Given the description of an element on the screen output the (x, y) to click on. 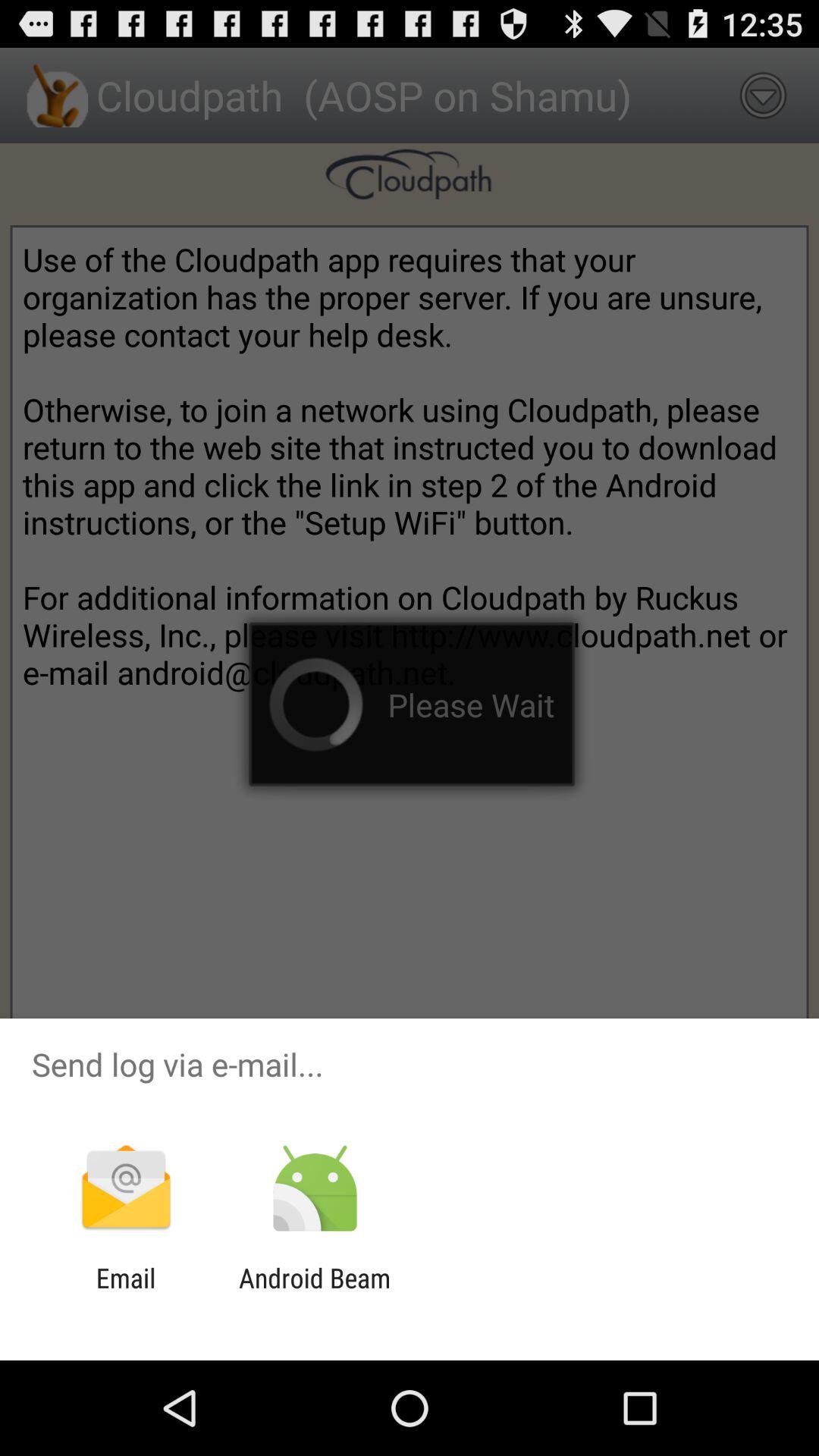
swipe until android beam item (314, 1293)
